Given the description of an element on the screen output the (x, y) to click on. 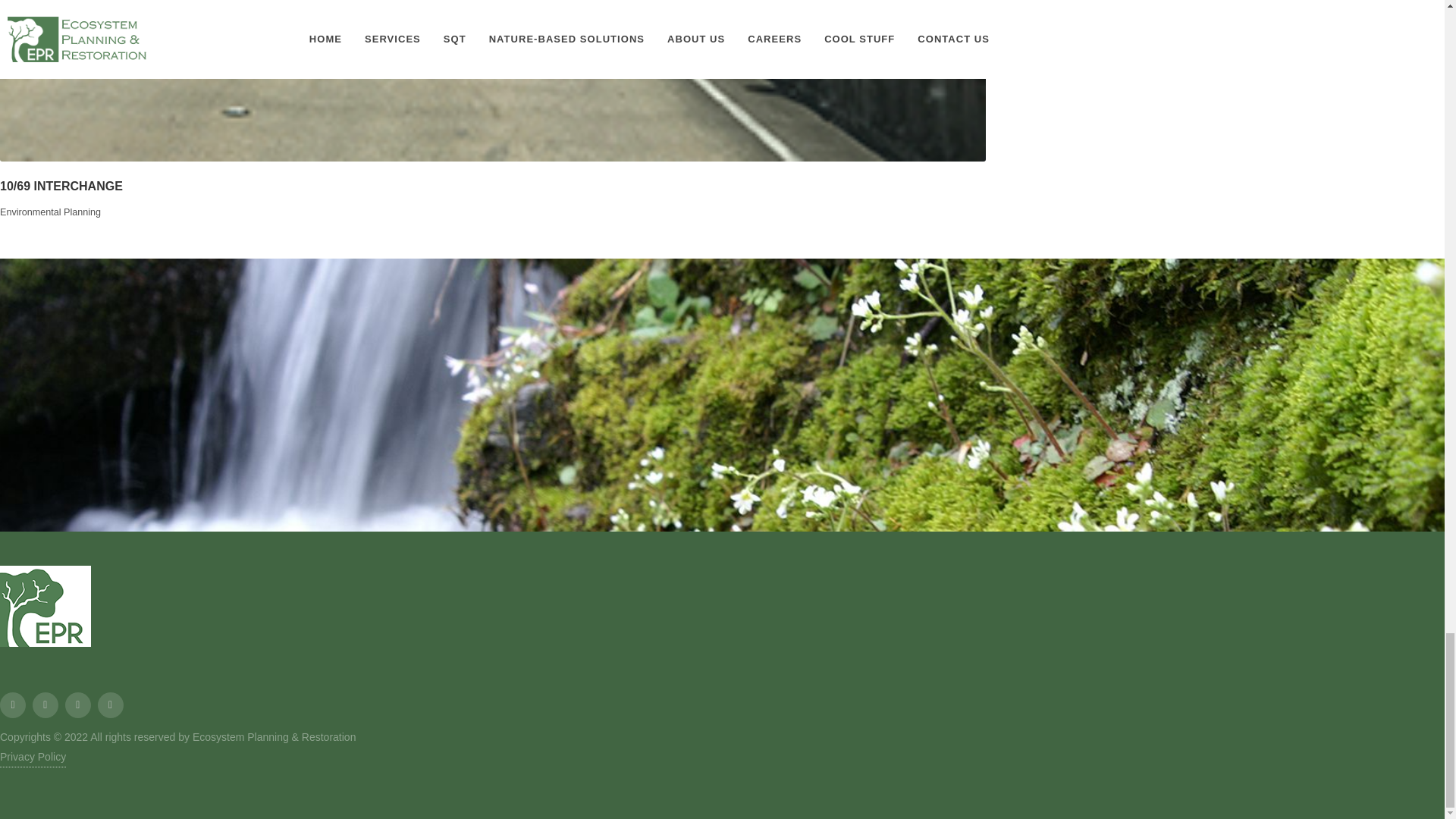
Youtube (77, 705)
LinkedIn (45, 705)
Privacy Policy (32, 757)
Facebook (13, 705)
Youtube (110, 705)
